Given the description of an element on the screen output the (x, y) to click on. 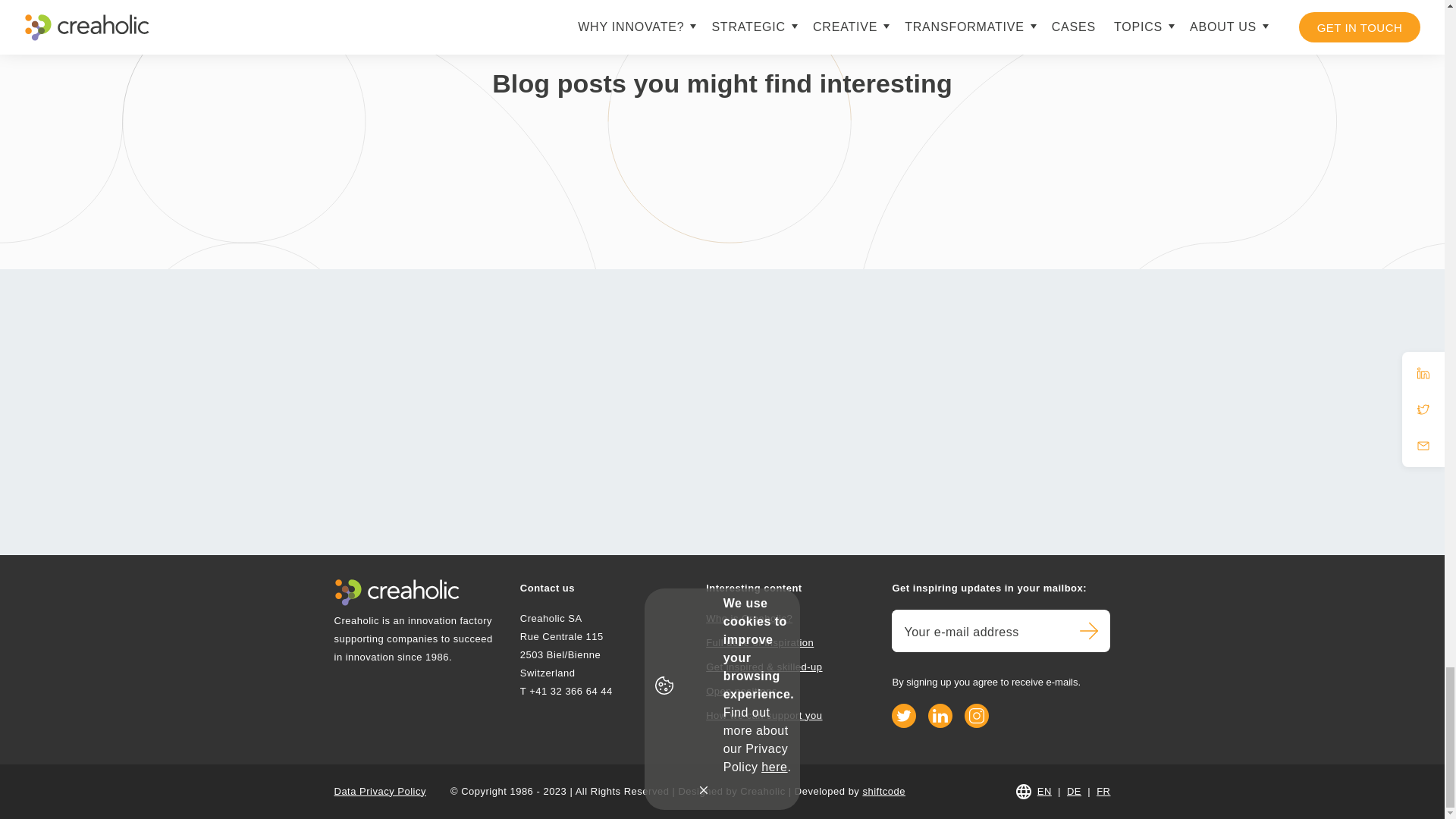
Send newsletter subscription (1088, 630)
